Given the description of an element on the screen output the (x, y) to click on. 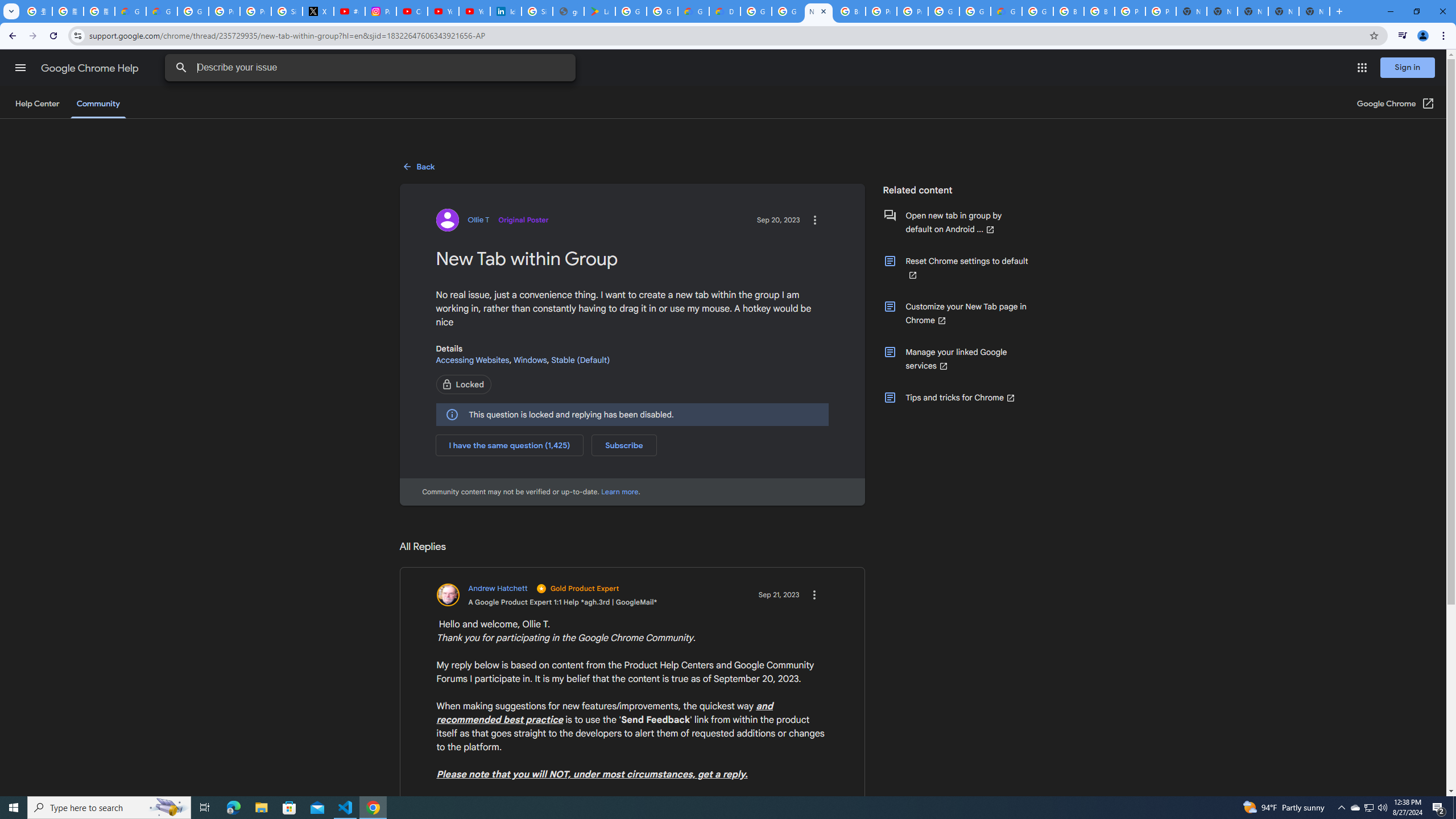
I have the same question (1,425) (509, 444)
Google Chrome Help (90, 68)
#nbabasketballhighlights - YouTube (349, 11)
Google Cloud Privacy Notice (130, 11)
